Given the description of an element on the screen output the (x, y) to click on. 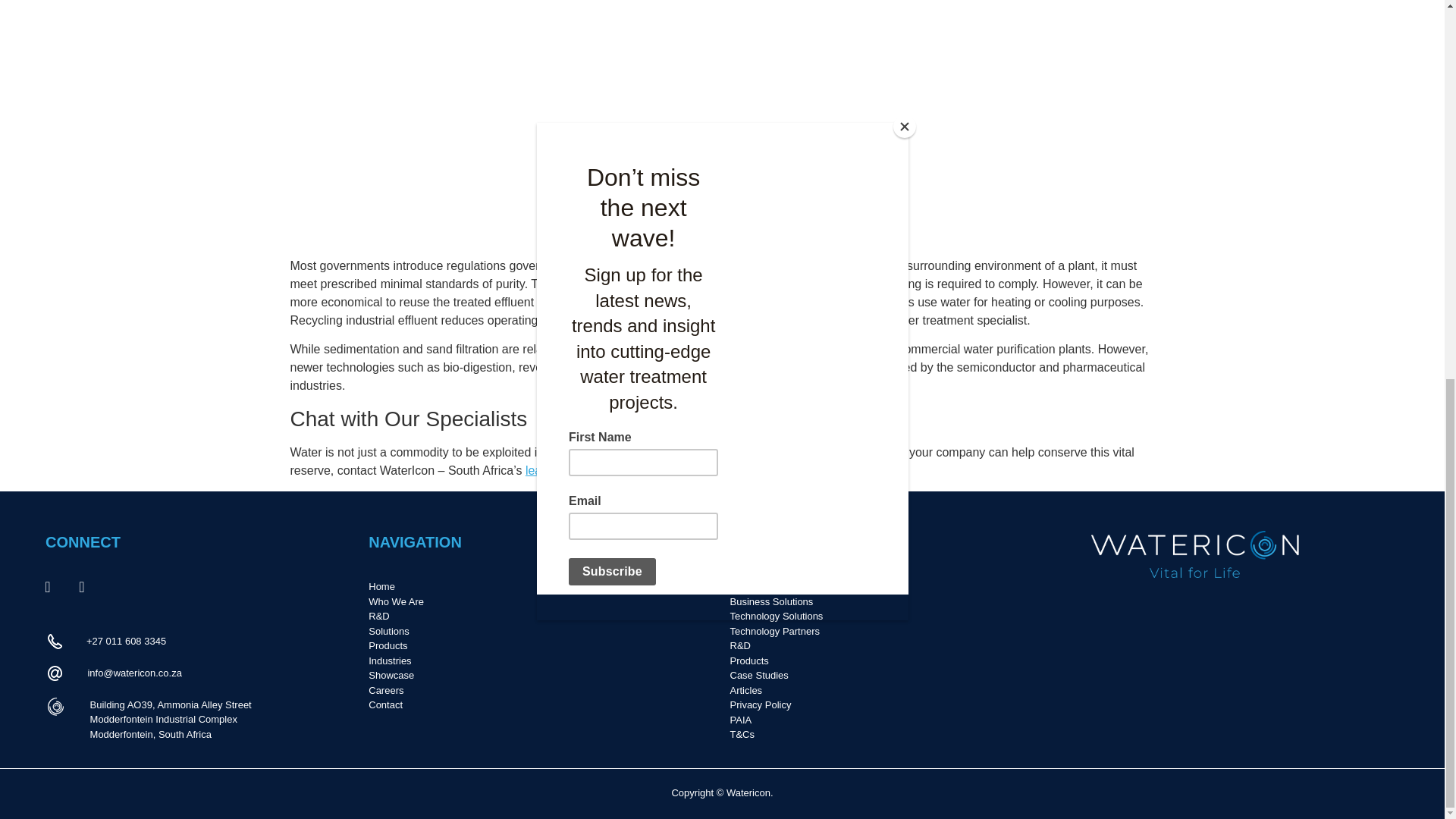
YouTube video player (565, 120)
